Given the description of an element on the screen output the (x, y) to click on. 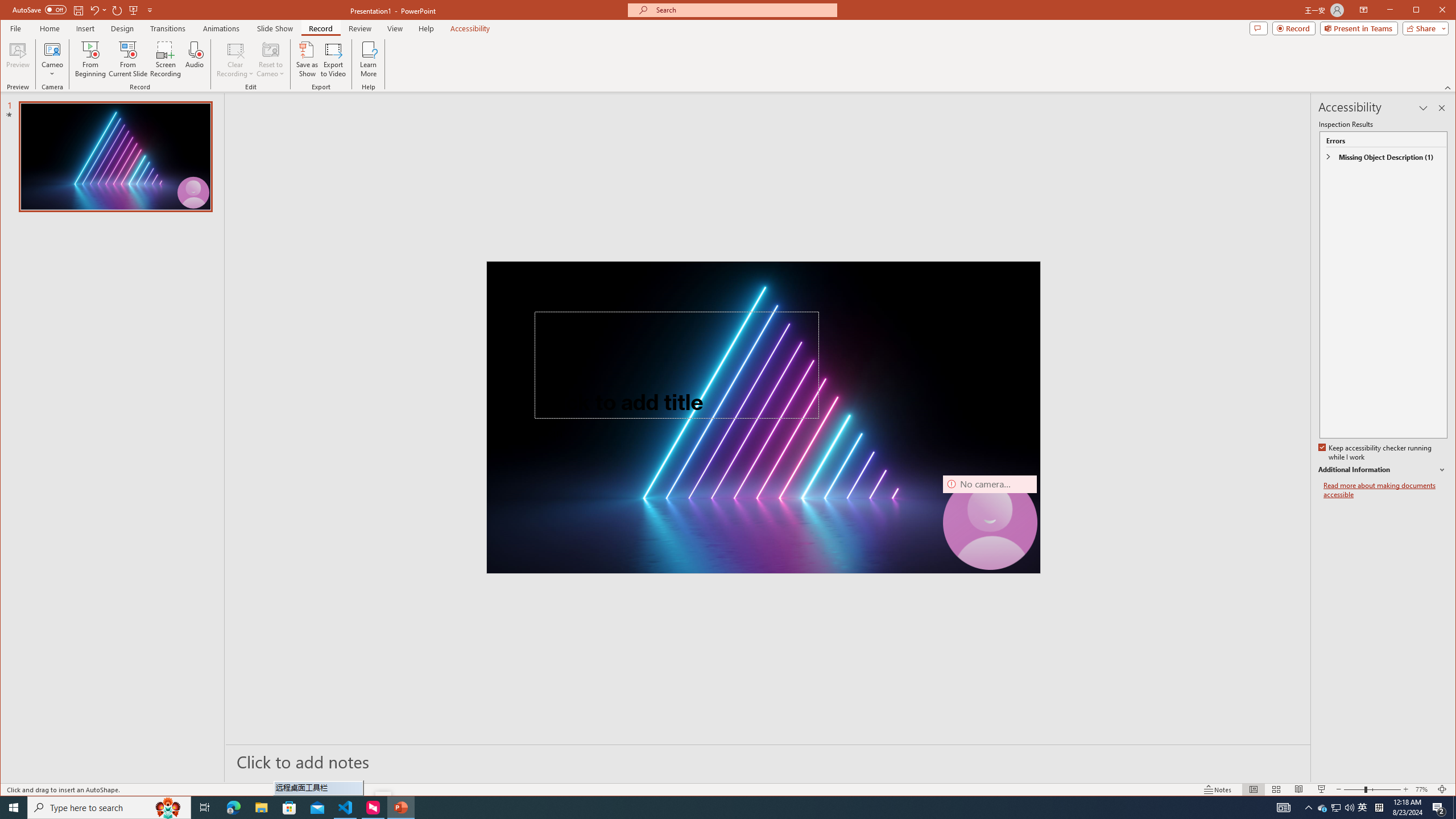
Visual Studio Code - 1 running window (345, 807)
Clear Recording (234, 59)
